Given the description of an element on the screen output the (x, y) to click on. 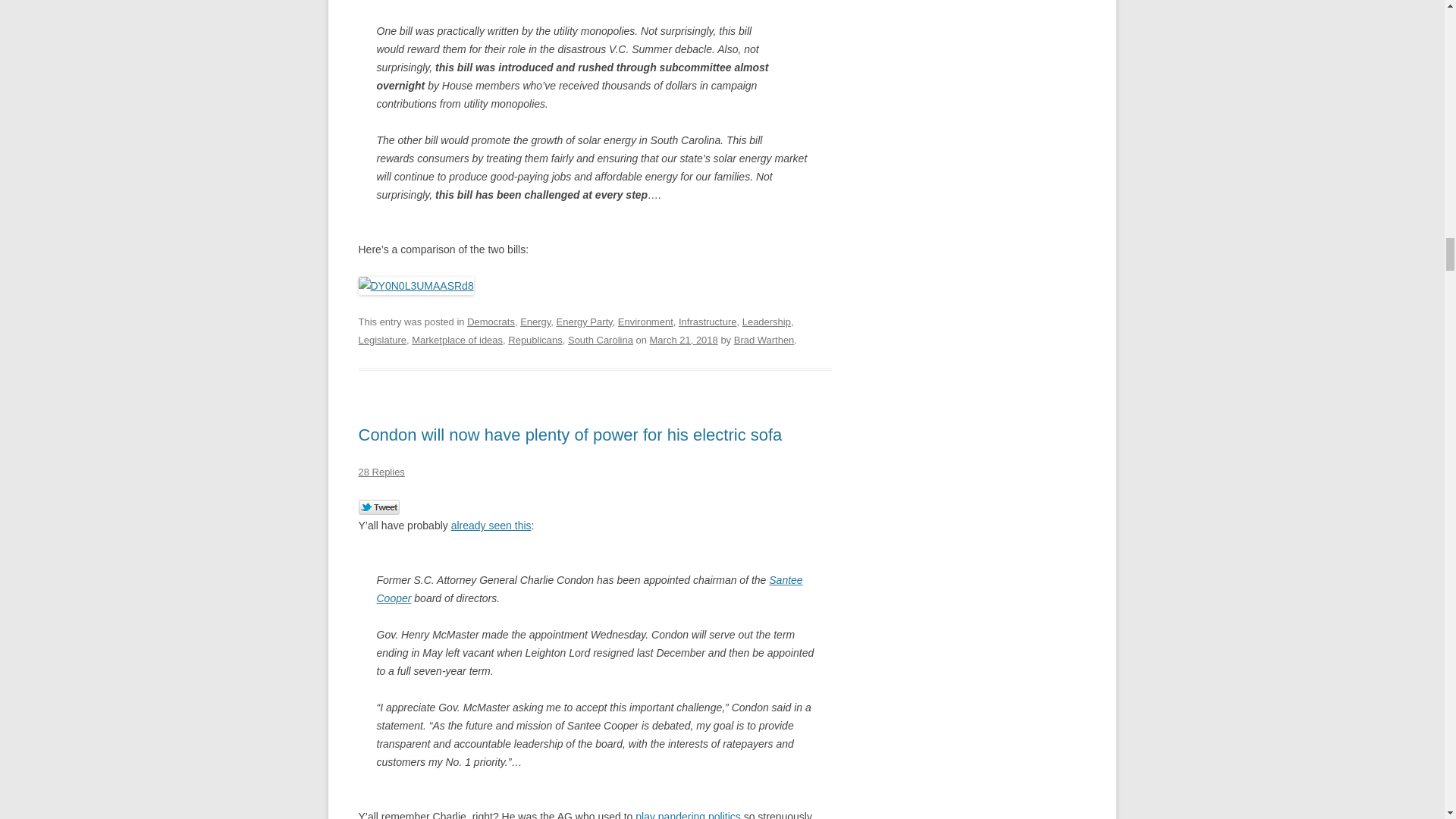
View all posts by Brad Warthen (763, 339)
2:51 pm (683, 339)
